Given the description of an element on the screen output the (x, y) to click on. 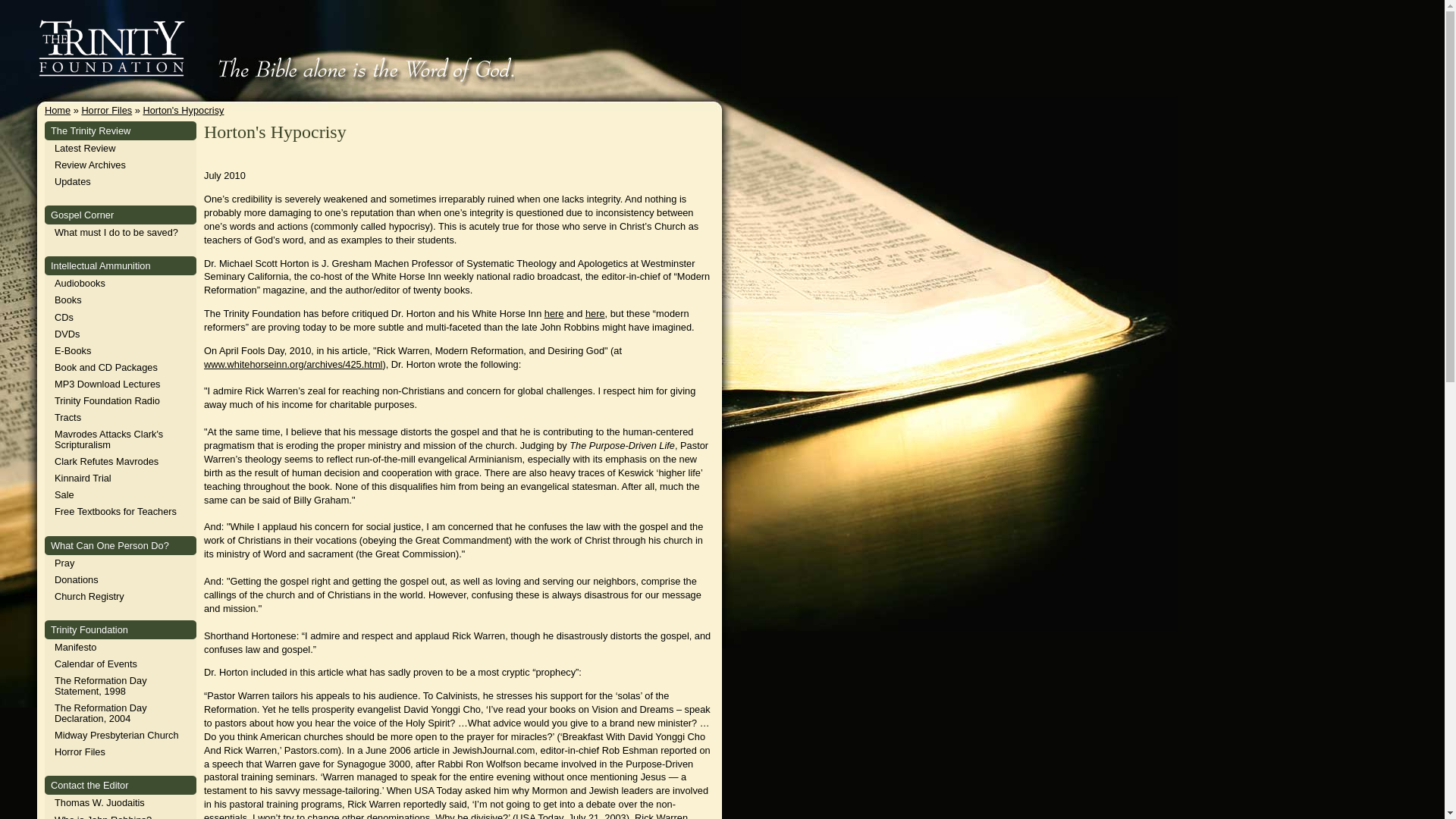
Horror Files (79, 751)
MP3 Download Lectures (107, 383)
The Reformation Day Statement, 1998 (101, 685)
Horton's Hypocrisy (183, 110)
E-Books (72, 350)
Calendar of Events (95, 663)
Latest Review (85, 147)
Updates (72, 181)
Free Textbooks for Teachers (115, 511)
Who is John Robbins? (103, 816)
